Given the description of an element on the screen output the (x, y) to click on. 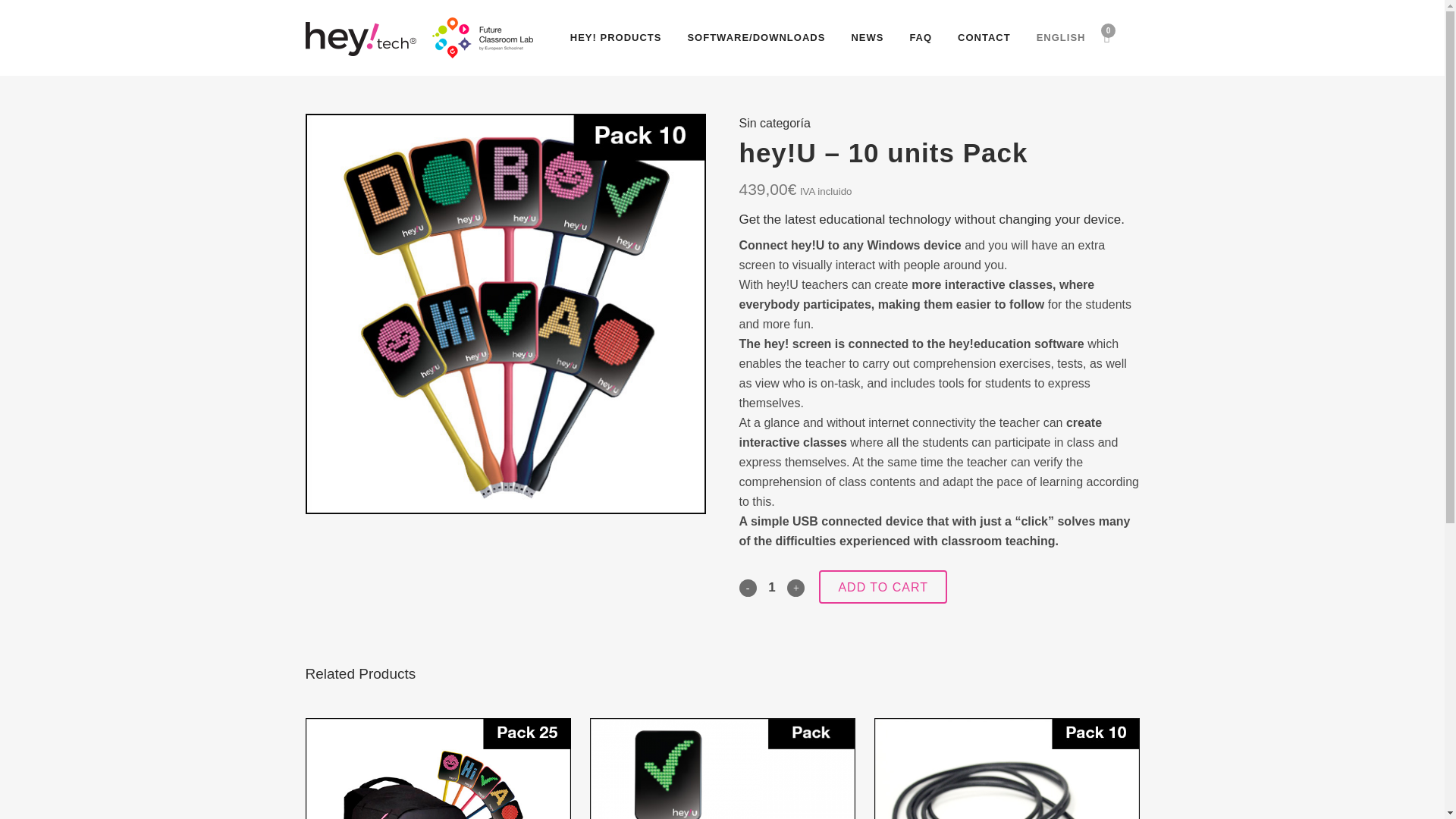
1 (772, 587)
- (746, 588)
FAQ (920, 38)
CONTACT (983, 38)
Qty (772, 587)
HEY! PRODUCTS (616, 38)
ENGLISH (1061, 38)
0 (1106, 37)
English (1061, 38)
NEWS (867, 38)
ADD TO CART (882, 586)
